Given the description of an element on the screen output the (x, y) to click on. 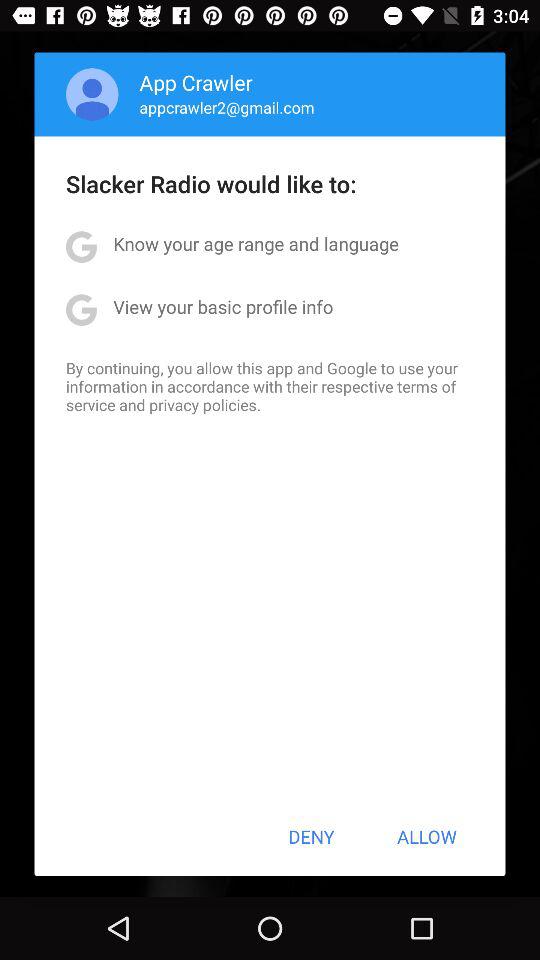
press icon at the bottom (311, 836)
